Given the description of an element on the screen output the (x, y) to click on. 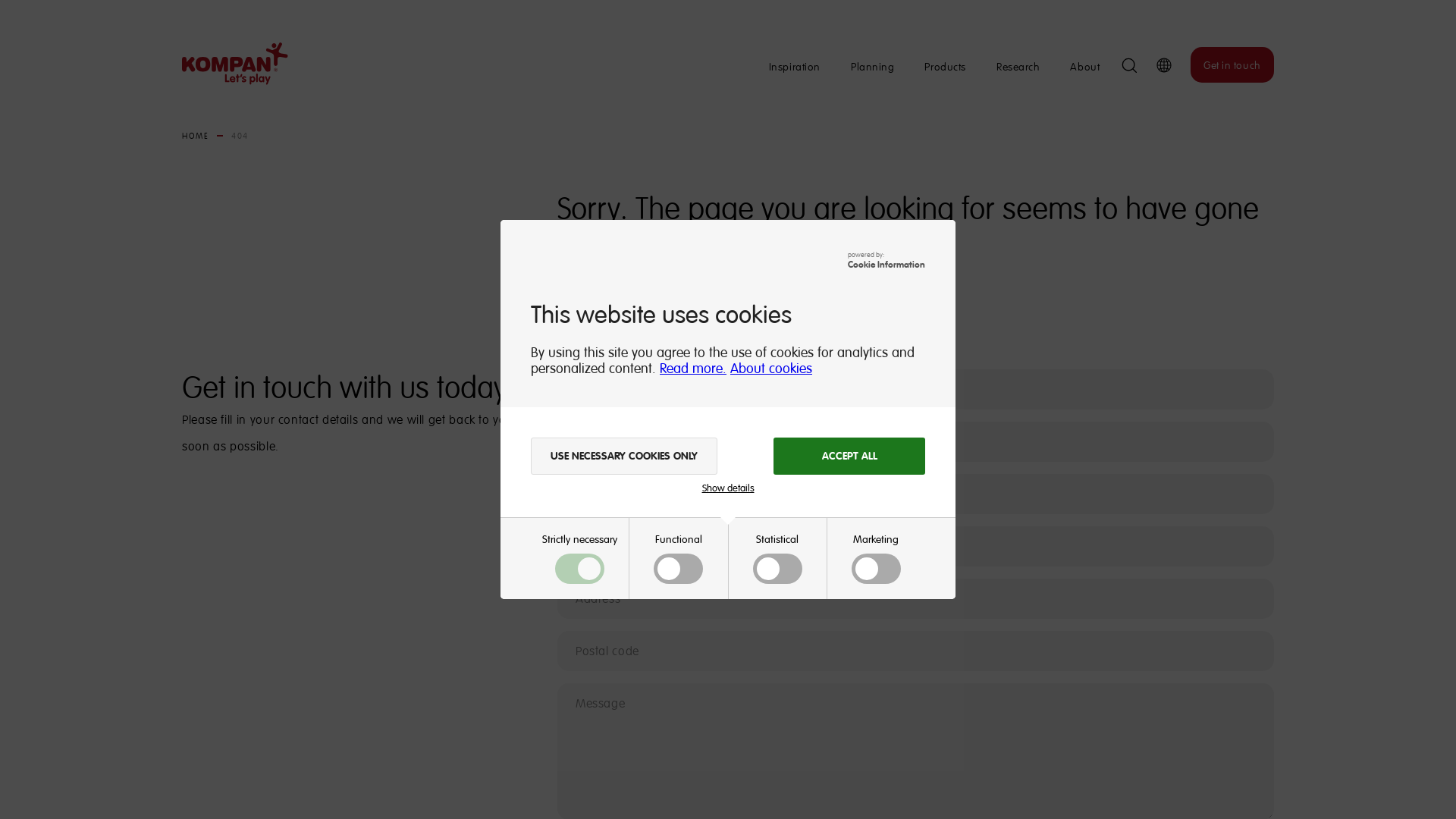
Inspiration Element type: text (788, 66)
HOME Element type: text (188, 135)
Planning Element type: text (866, 66)
About Element type: text (1079, 66)
Products Element type: text (939, 66)
Get in touch Element type: text (1226, 64)
404 Element type: text (234, 135)
Research Element type: text (1011, 66)
Logo Element type: hover (228, 63)
